Given the description of an element on the screen output the (x, y) to click on. 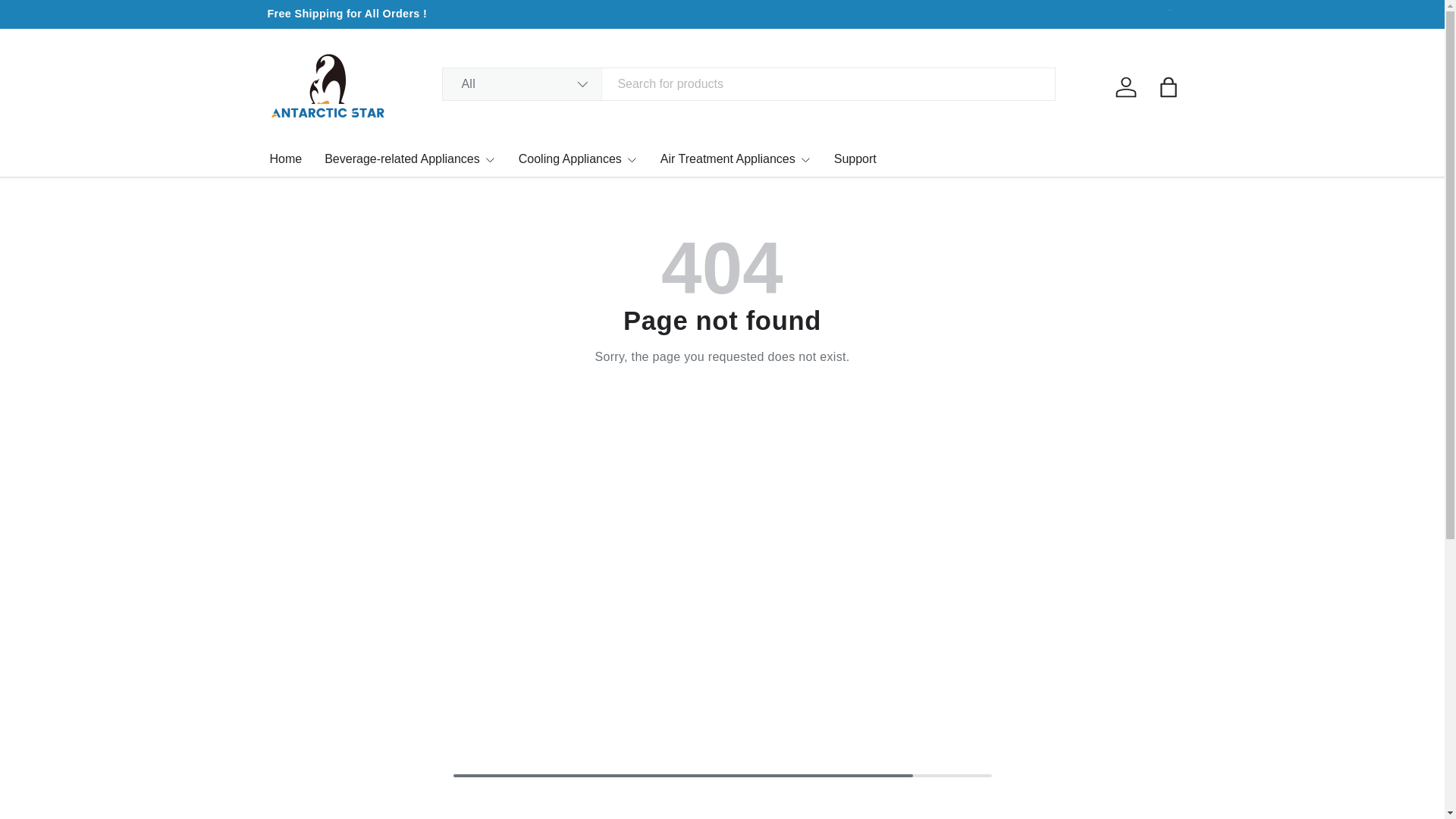
Air Treatment Appliances (735, 158)
Home (285, 158)
Beverage-related Appliances (410, 158)
Skip to content (64, 21)
All (522, 83)
Log in (1124, 87)
Cooling Appliances (577, 158)
Bag (1168, 87)
